Given the description of an element on the screen output the (x, y) to click on. 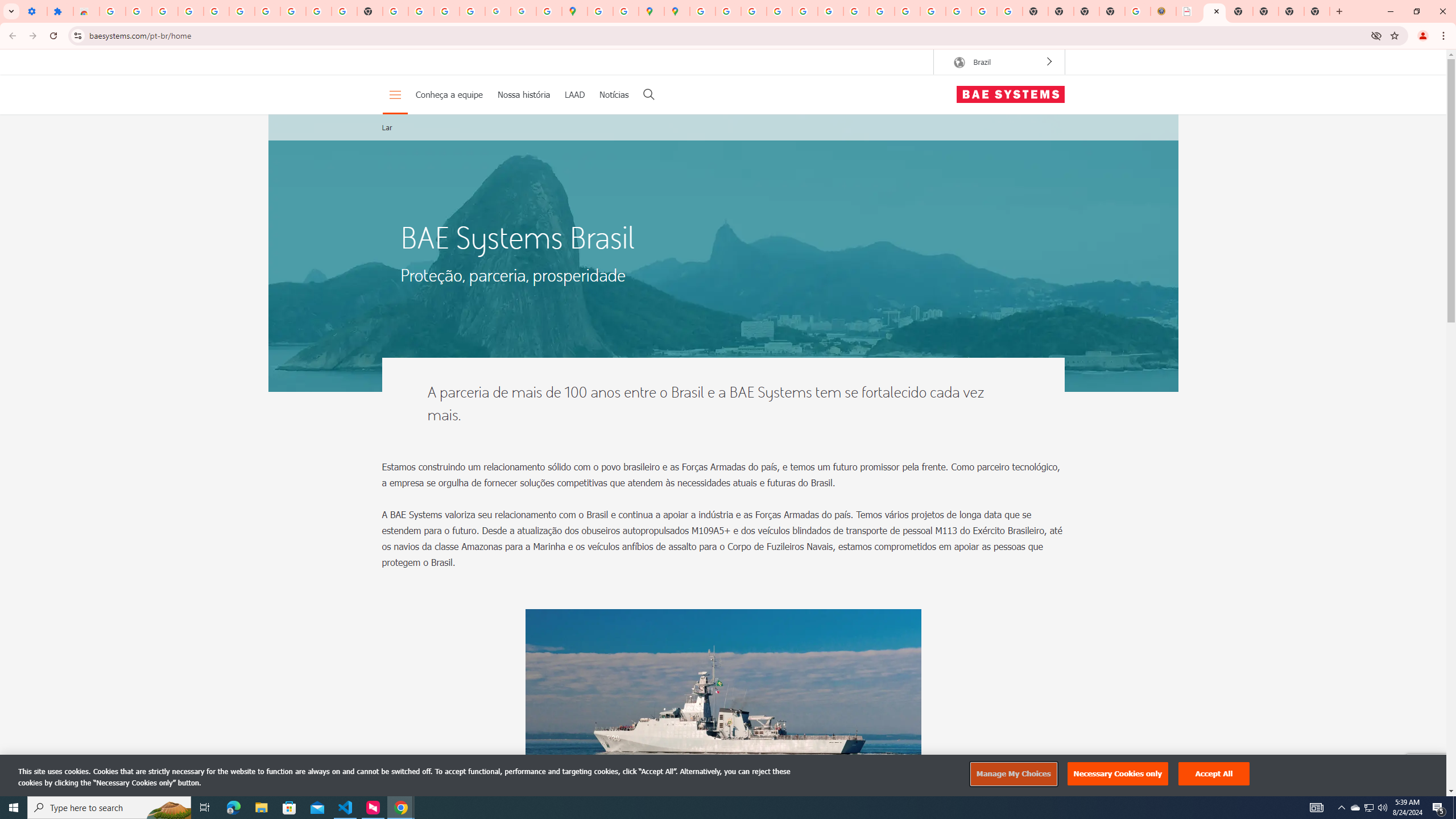
Manage My Choices (1013, 774)
BAE Systems (1010, 94)
Reviews: Helix Fruit Jump Arcade Game (86, 11)
Delete photos & videos - Computer - Google Photos Help (165, 11)
New Tab (1316, 11)
BAE Systems Brasil | BAE Systems (1213, 11)
